Given the description of an element on the screen output the (x, y) to click on. 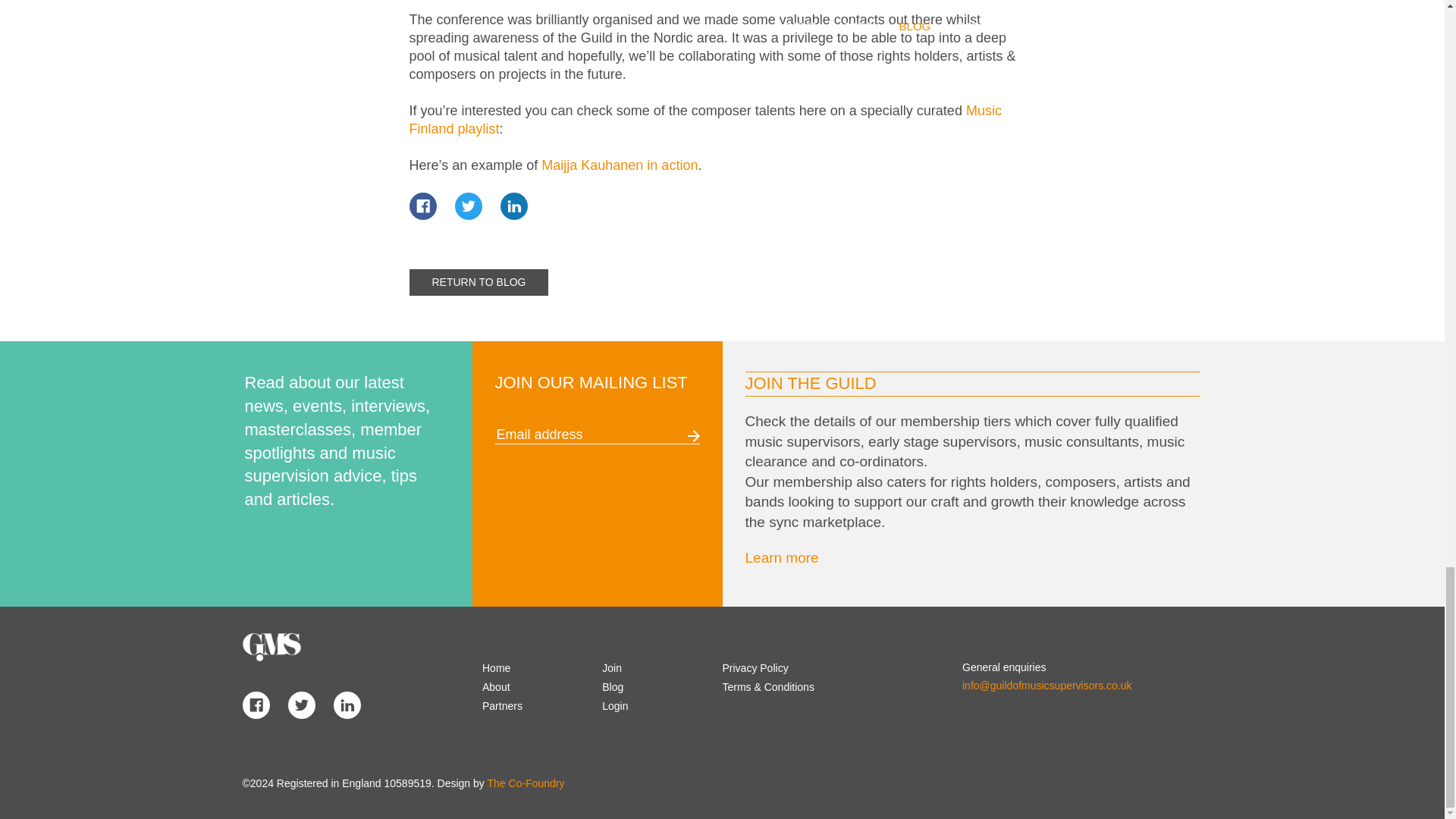
Blog (612, 686)
Learn more (781, 557)
The Co-Foundry (525, 783)
Music Finland playlist (705, 119)
Privacy Policy (754, 667)
Maijja Kauhanen in action (619, 165)
Subscribe (692, 435)
Login (614, 705)
RETURN TO BLOG (478, 282)
About (496, 686)
Home (496, 667)
Subscribe (692, 435)
Partners (501, 705)
Join (611, 667)
